Given the description of an element on the screen output the (x, y) to click on. 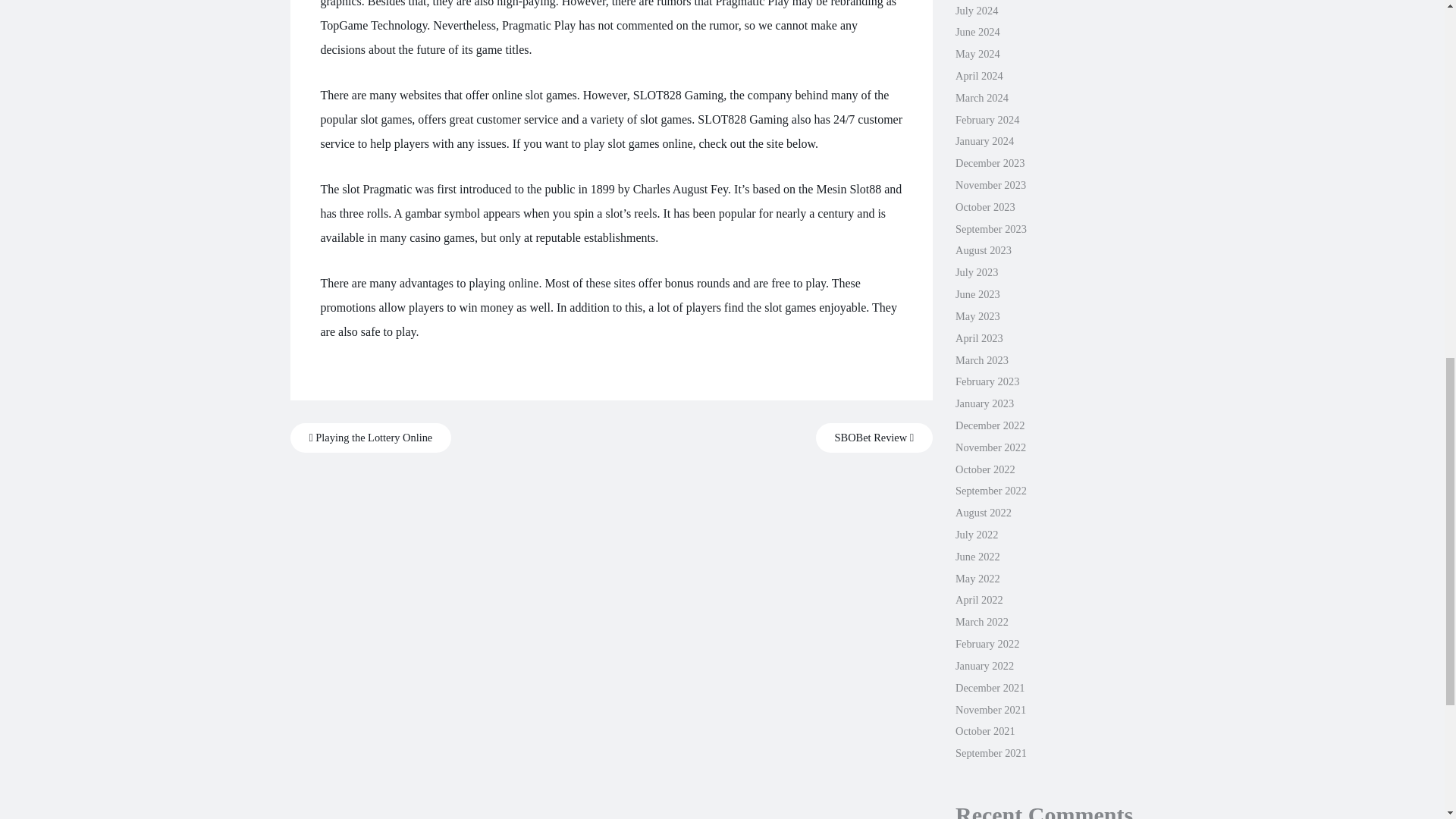
September 2023 (990, 228)
October 2023 (984, 206)
Playing the Lottery Online (370, 437)
January 2024 (984, 141)
June 2024 (977, 31)
May 2023 (977, 316)
SBOBet Review (874, 437)
July 2024 (976, 10)
December 2022 (990, 425)
April 2023 (979, 337)
